Given the description of an element on the screen output the (x, y) to click on. 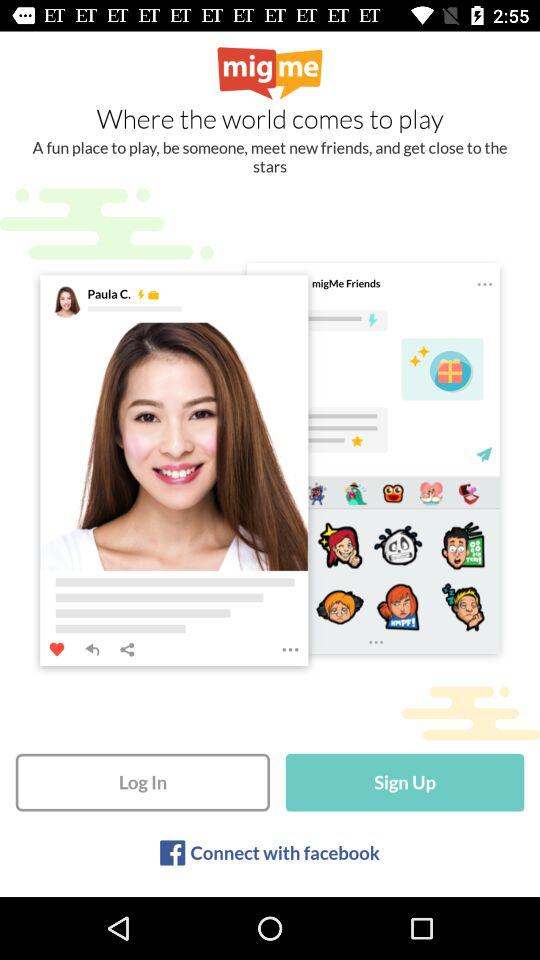
swipe until log in (142, 782)
